Given the description of an element on the screen output the (x, y) to click on. 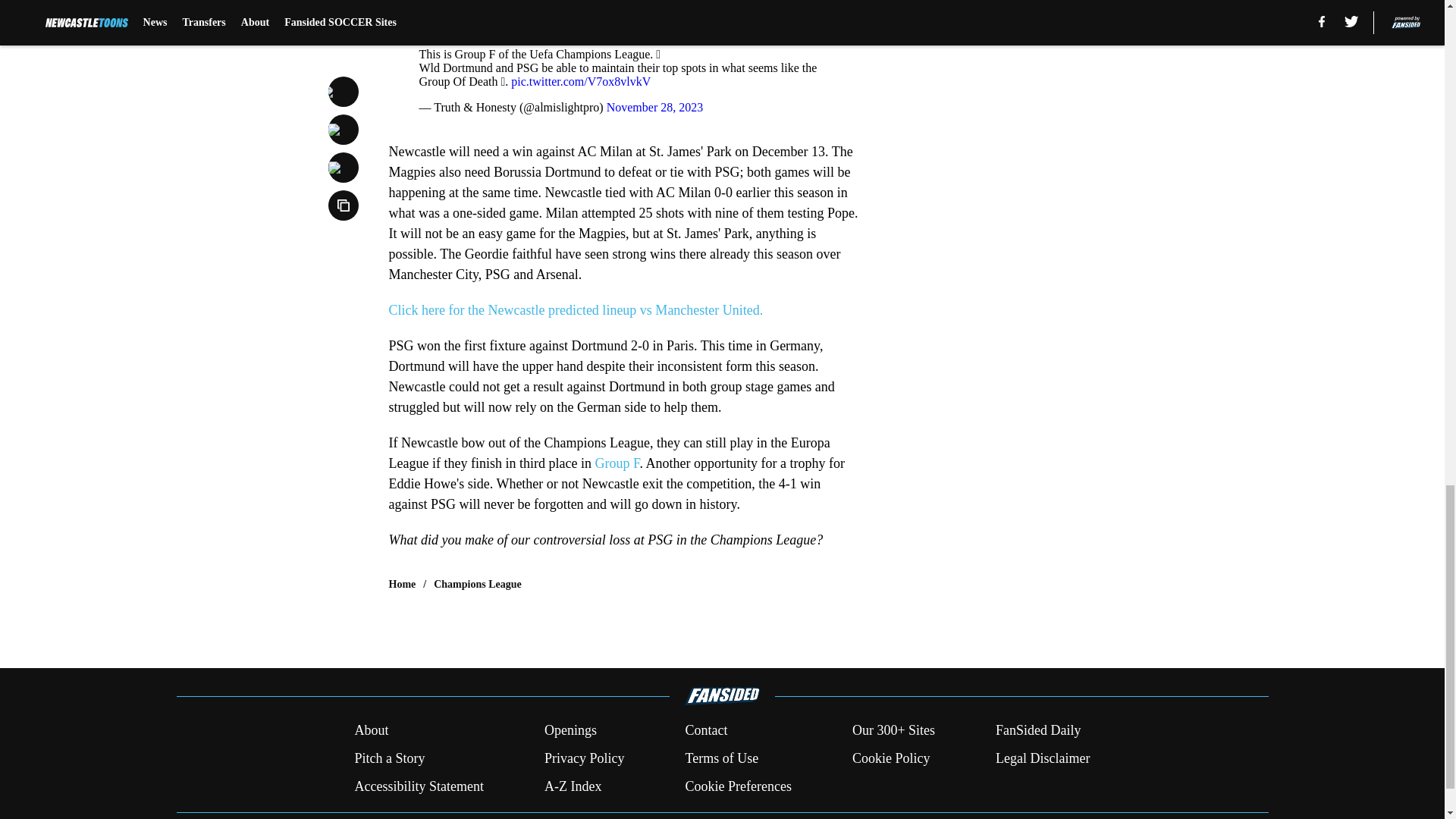
Group F (616, 462)
Openings (570, 730)
Privacy Policy (584, 758)
November 28, 2023 (655, 106)
Terms of Use (721, 758)
About (370, 730)
FanSided Daily (1038, 730)
A-Z Index (572, 786)
Home (401, 584)
